Given the description of an element on the screen output the (x, y) to click on. 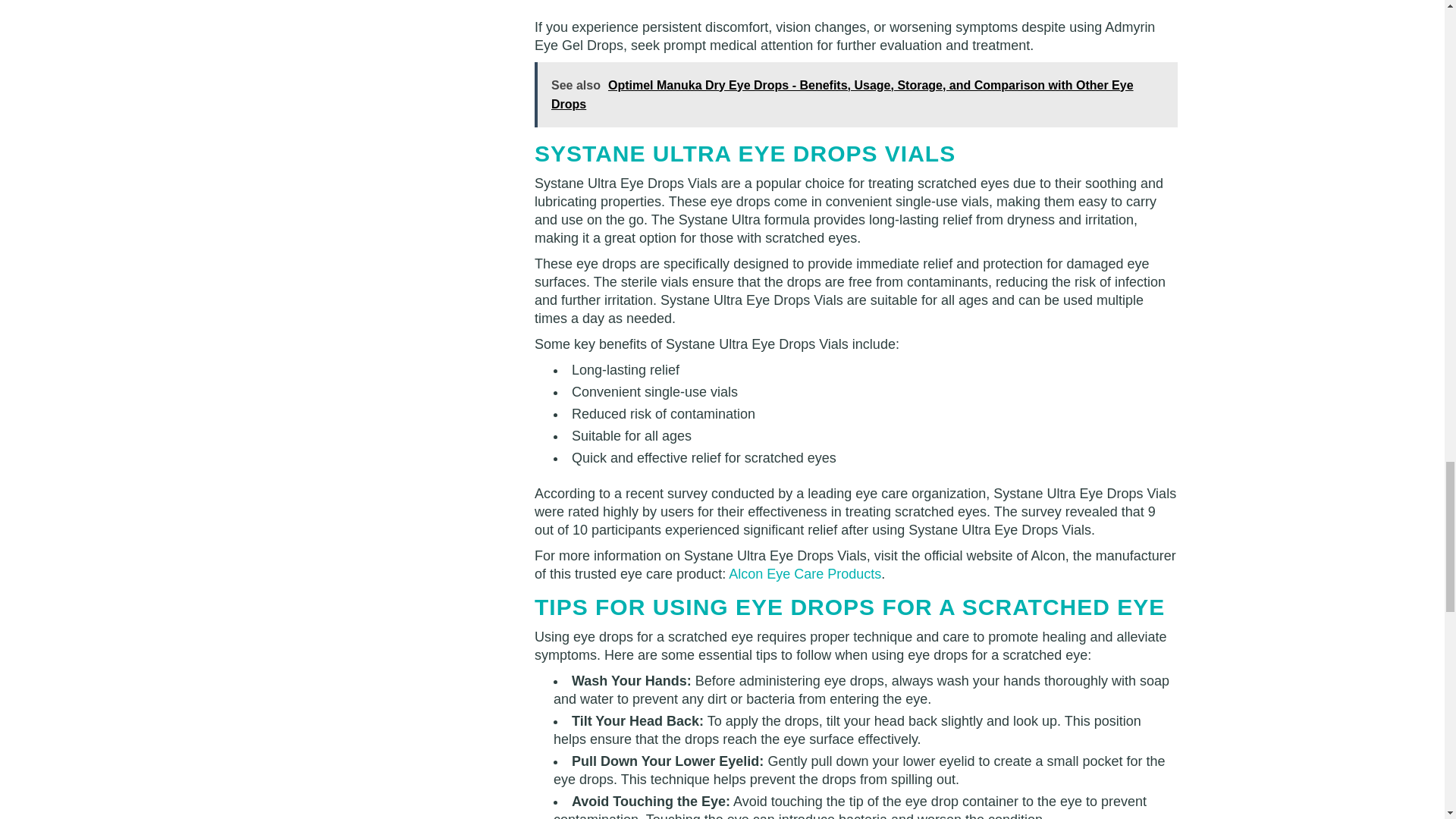
Alcon Eye Care Products (804, 573)
